Given the description of an element on the screen output the (x, y) to click on. 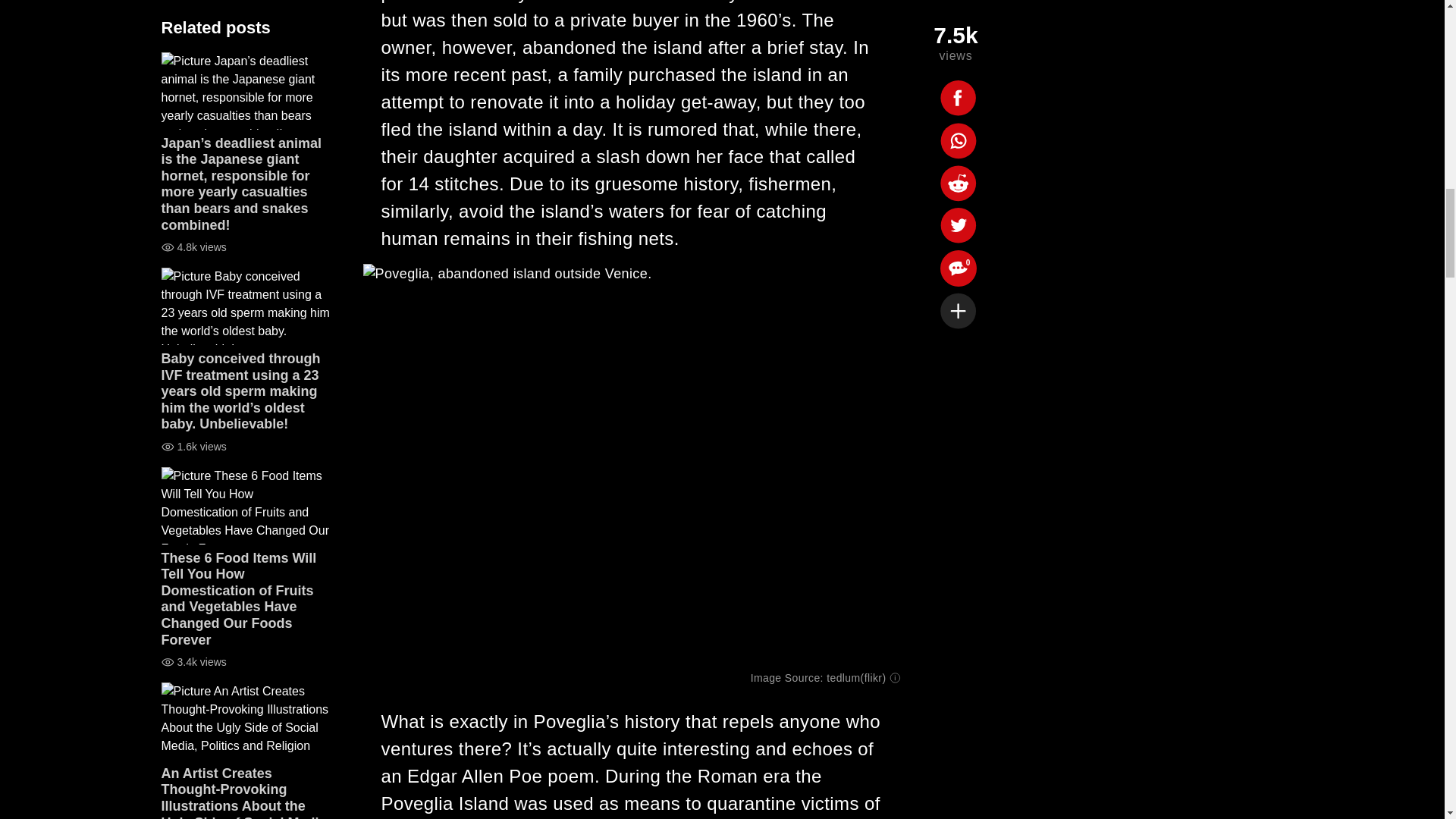
image source (856, 677)
